Given the description of an element on the screen output the (x, y) to click on. 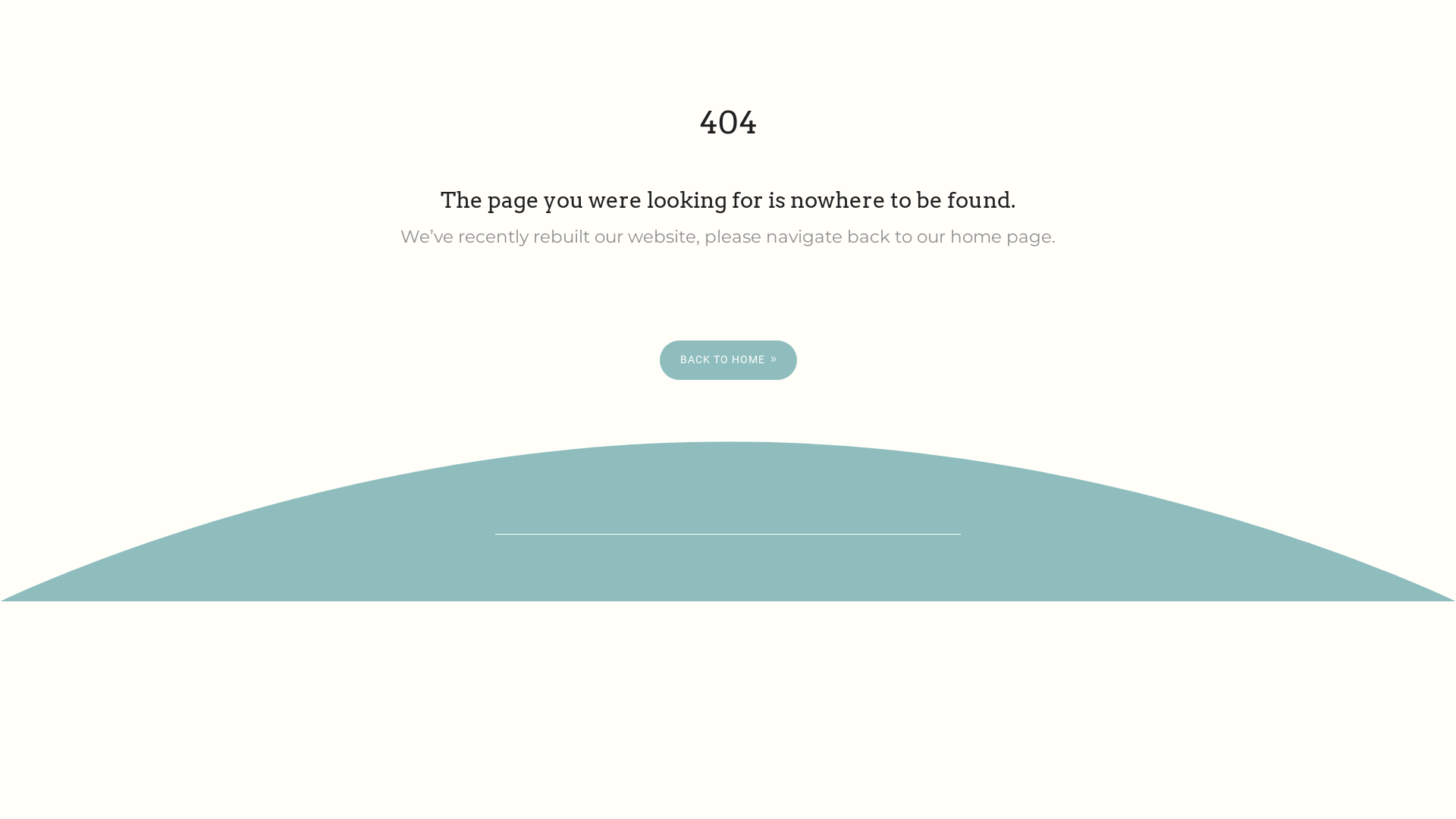
BACK TO HOME Element type: text (728, 359)
